Given the description of an element on the screen output the (x, y) to click on. 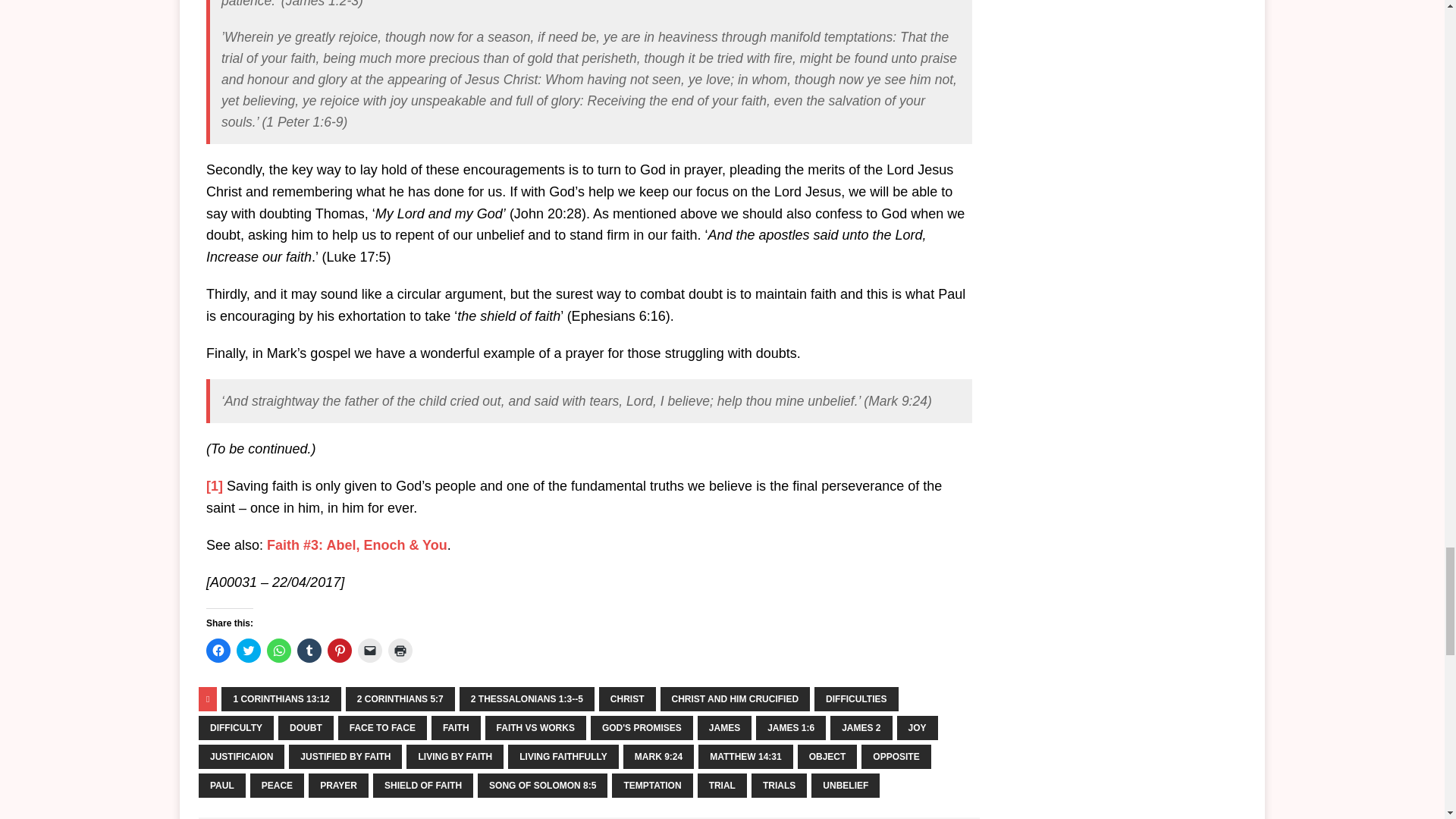
Click to print (400, 650)
Click to share on Twitter (247, 650)
Click to share on WhatsApp (278, 650)
Click to share on Pinterest (339, 650)
Click to email a link to a friend (369, 650)
Click to share on Facebook (218, 650)
Click to share on Tumblr (309, 650)
